Given the description of an element on the screen output the (x, y) to click on. 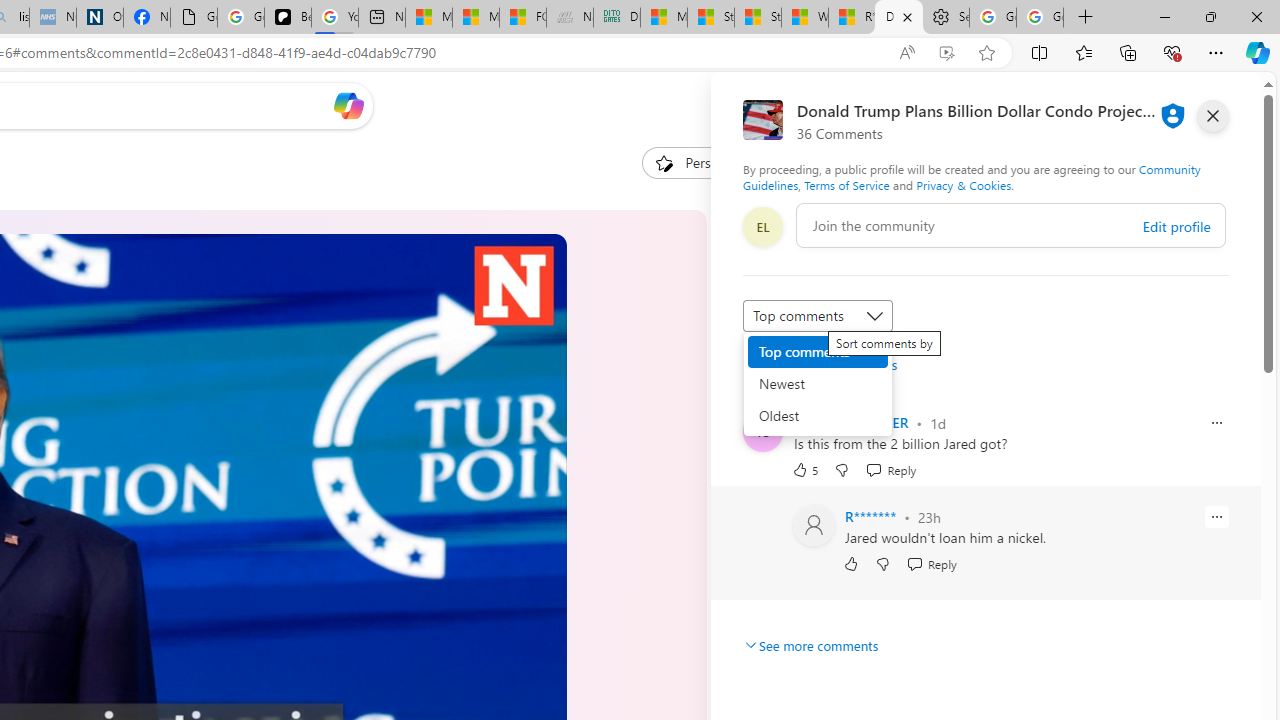
Google Analytics Opt-out Browser Add-on Download Page (194, 17)
close (1212, 115)
Reply Reply Comment (931, 564)
LendingTree (807, 439)
Profile Picture (813, 525)
Terms of Service (846, 184)
Notifications (1176, 105)
See previous comments (820, 364)
Community Guidelines (971, 176)
Report comment (1216, 516)
